Given the description of an element on the screen output the (x, y) to click on. 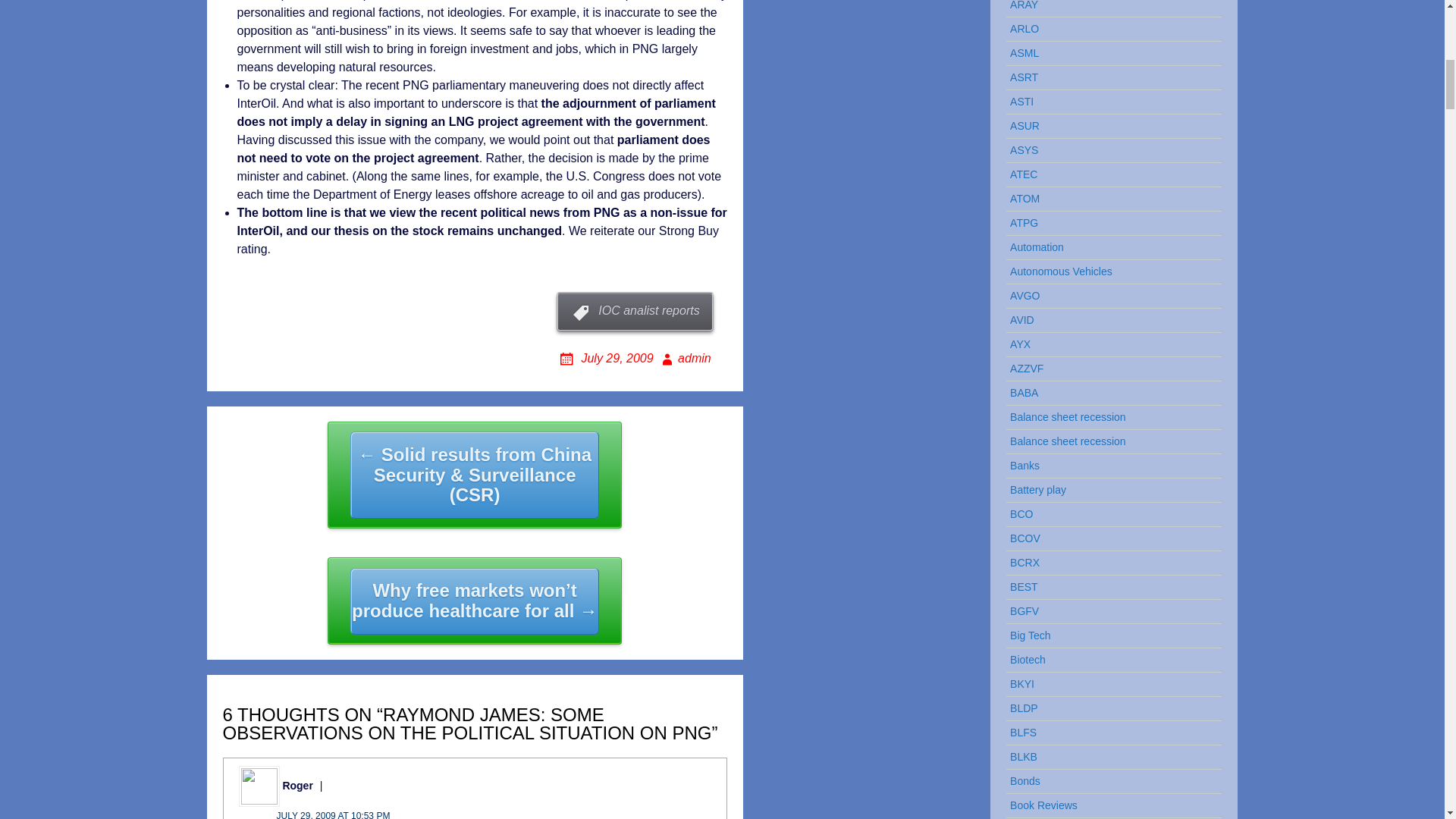
admin (683, 358)
JULY 29, 2009 AT 10:53 PM (333, 814)
admin (683, 358)
July 29, 2009 (606, 358)
July 29, 2009 (606, 358)
IOC analist reports (634, 311)
